Given the description of an element on the screen output the (x, y) to click on. 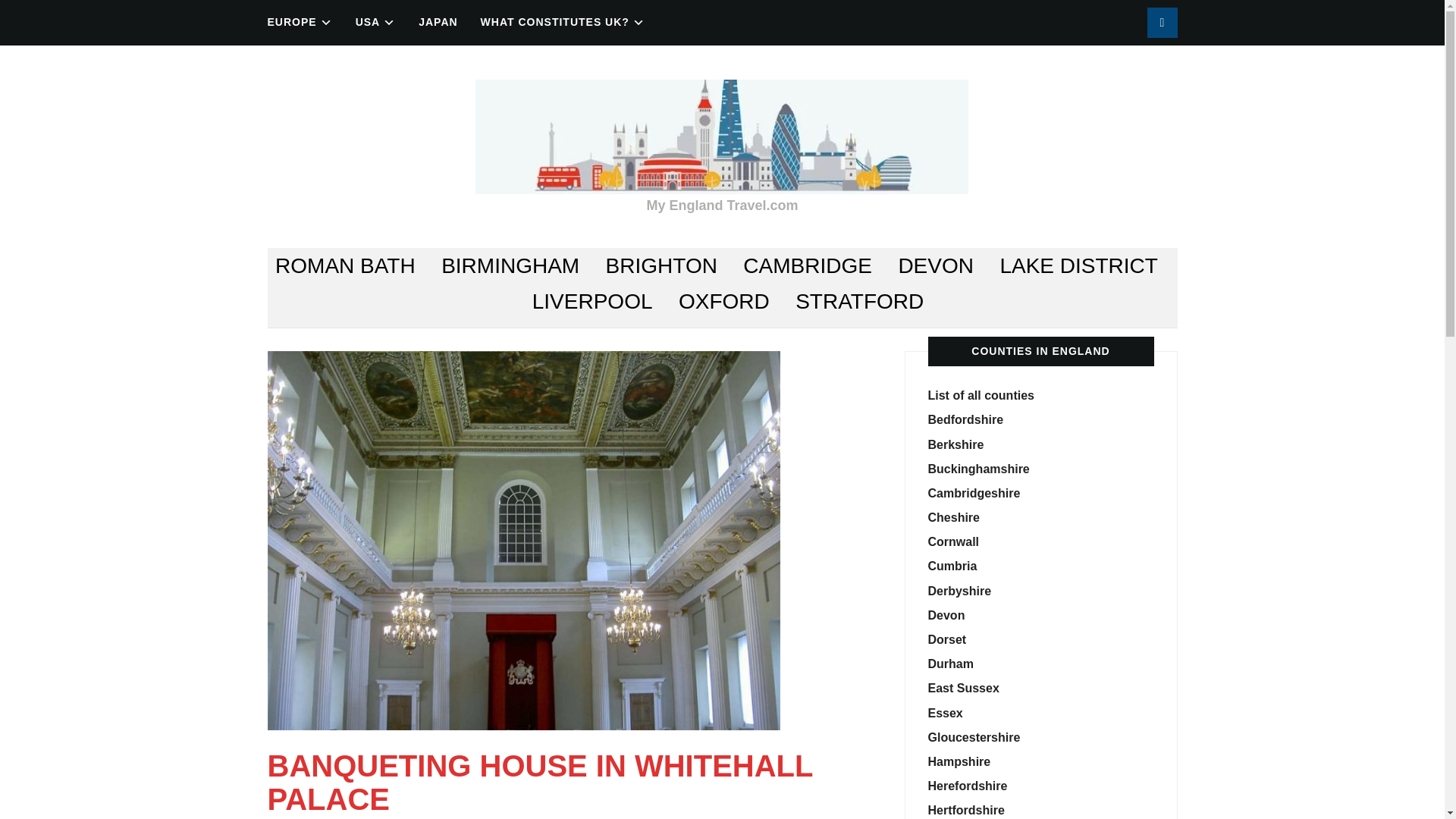
EUROPE (298, 22)
Search (1161, 22)
JAPAN (438, 22)
WHAT CONSTITUTES UK? (562, 22)
BIRMINGHAM (510, 266)
USA (375, 22)
ROMAN BATH (344, 266)
